Given the description of an element on the screen output the (x, y) to click on. 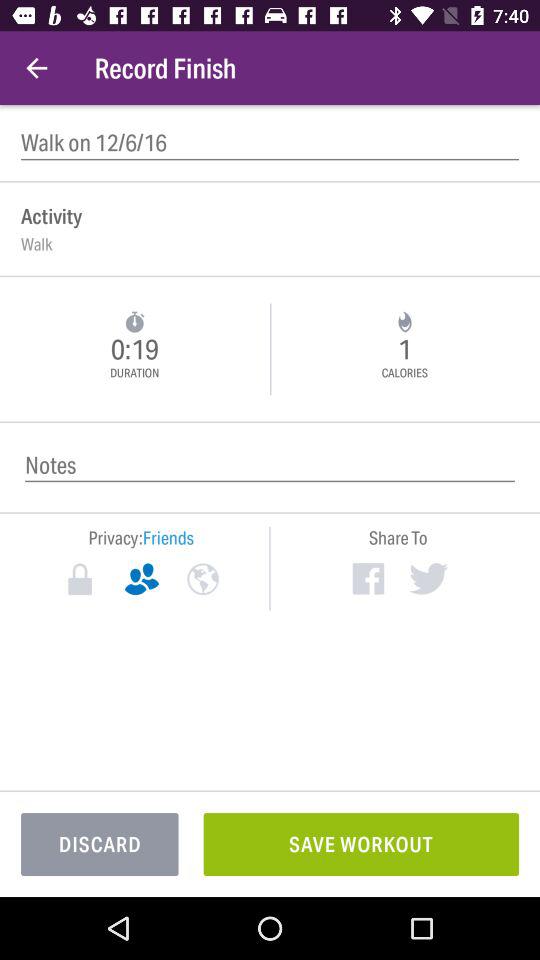
switch friends (141, 579)
